Given the description of an element on the screen output the (x, y) to click on. 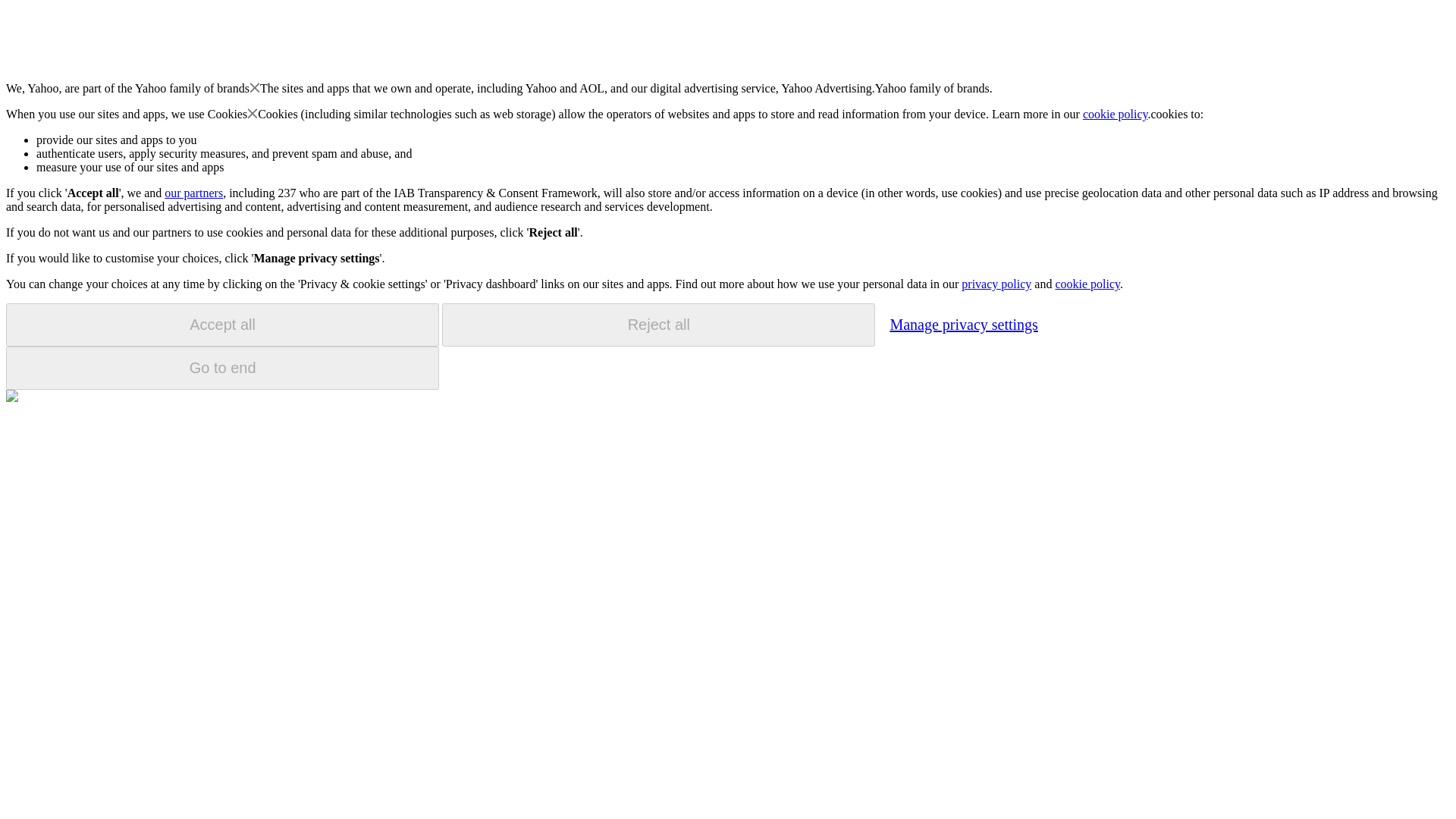
Accept all (222, 324)
cookie policy (1086, 283)
cookie policy (1115, 113)
Go to end (222, 367)
Manage privacy settings (963, 323)
privacy policy (995, 283)
our partners (193, 192)
Reject all (658, 324)
